Given the description of an element on the screen output the (x, y) to click on. 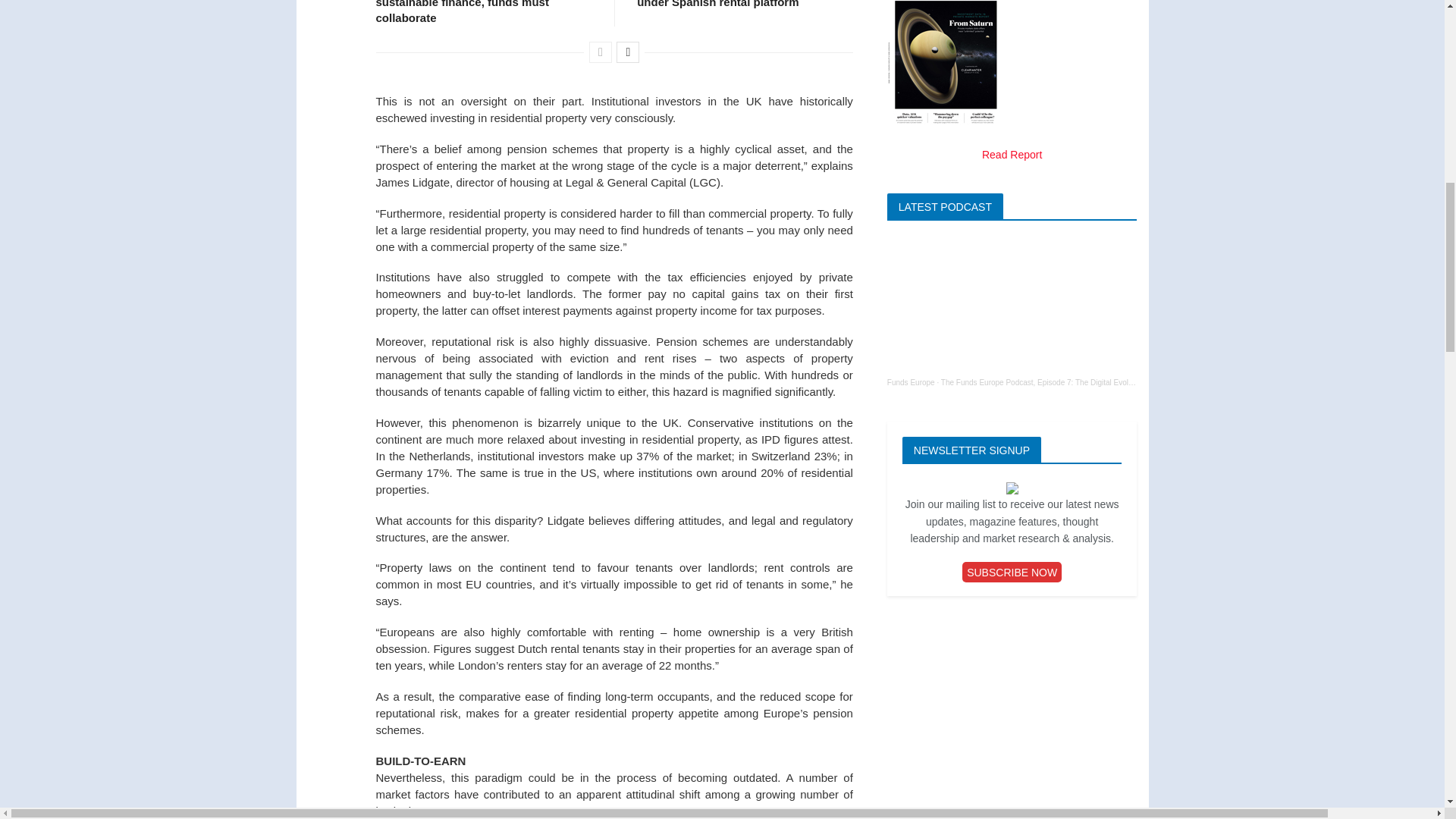
Funds Europe (910, 382)
Next (627, 52)
Previous (600, 52)
